Given the description of an element on the screen output the (x, y) to click on. 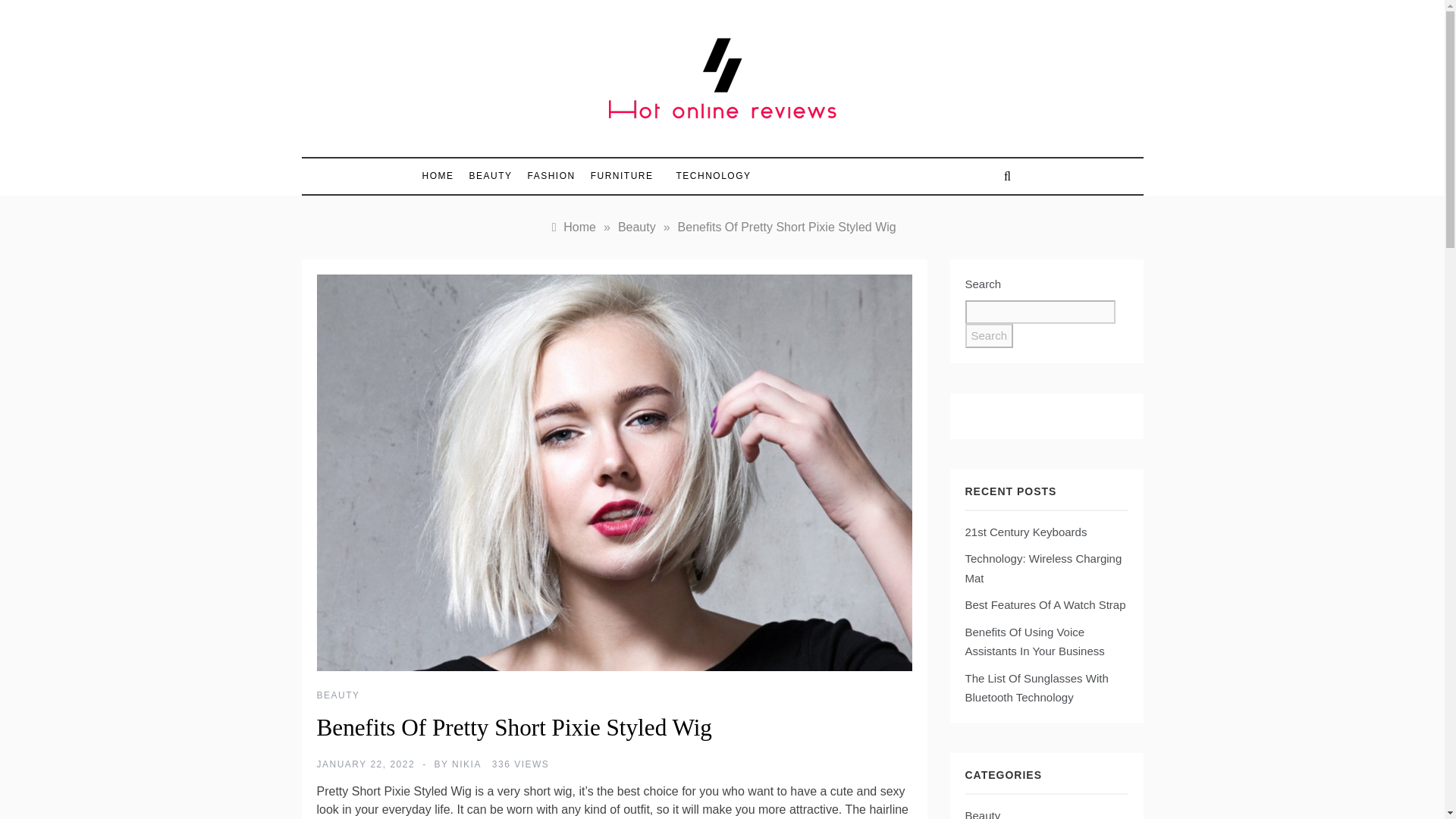
Beauty (981, 812)
NIKIA (465, 764)
Technology: Wireless Charging Mat (1042, 568)
BEAUTY (490, 176)
Home (571, 226)
HOME (441, 176)
The List Of Sunglasses With Bluetooth Technology (1035, 687)
21st Century Keyboards (1024, 531)
Benefits Of Using Voice Assistants In Your Business (1033, 641)
FASHION (551, 176)
